Given the description of an element on the screen output the (x, y) to click on. 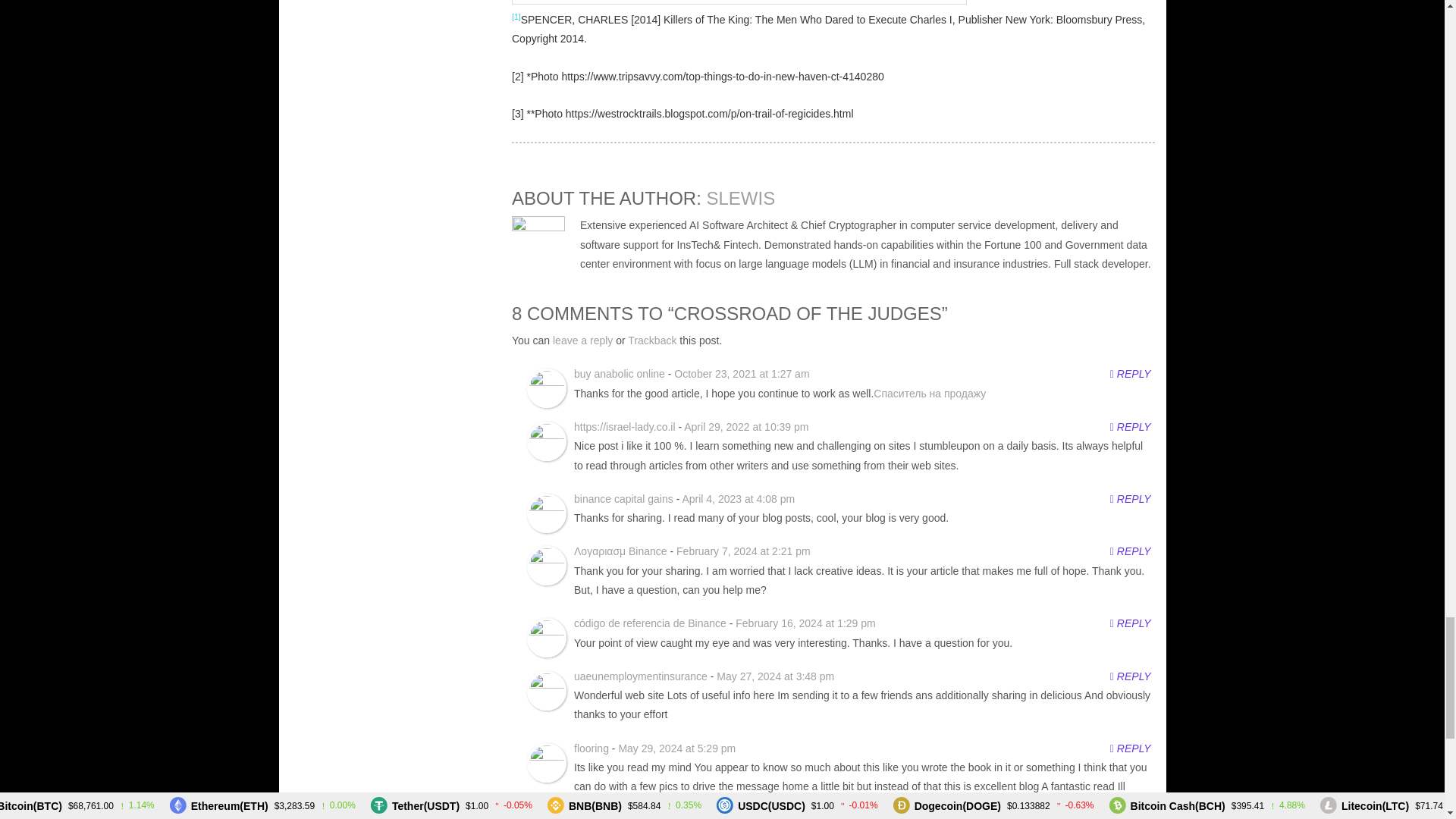
REPLY (1130, 374)
SLEWIS (741, 198)
buy anabolic online (619, 373)
October 23, 2021 at 1:27 am (741, 373)
leave a reply (582, 340)
Trackback (652, 340)
